Given the description of an element on the screen output the (x, y) to click on. 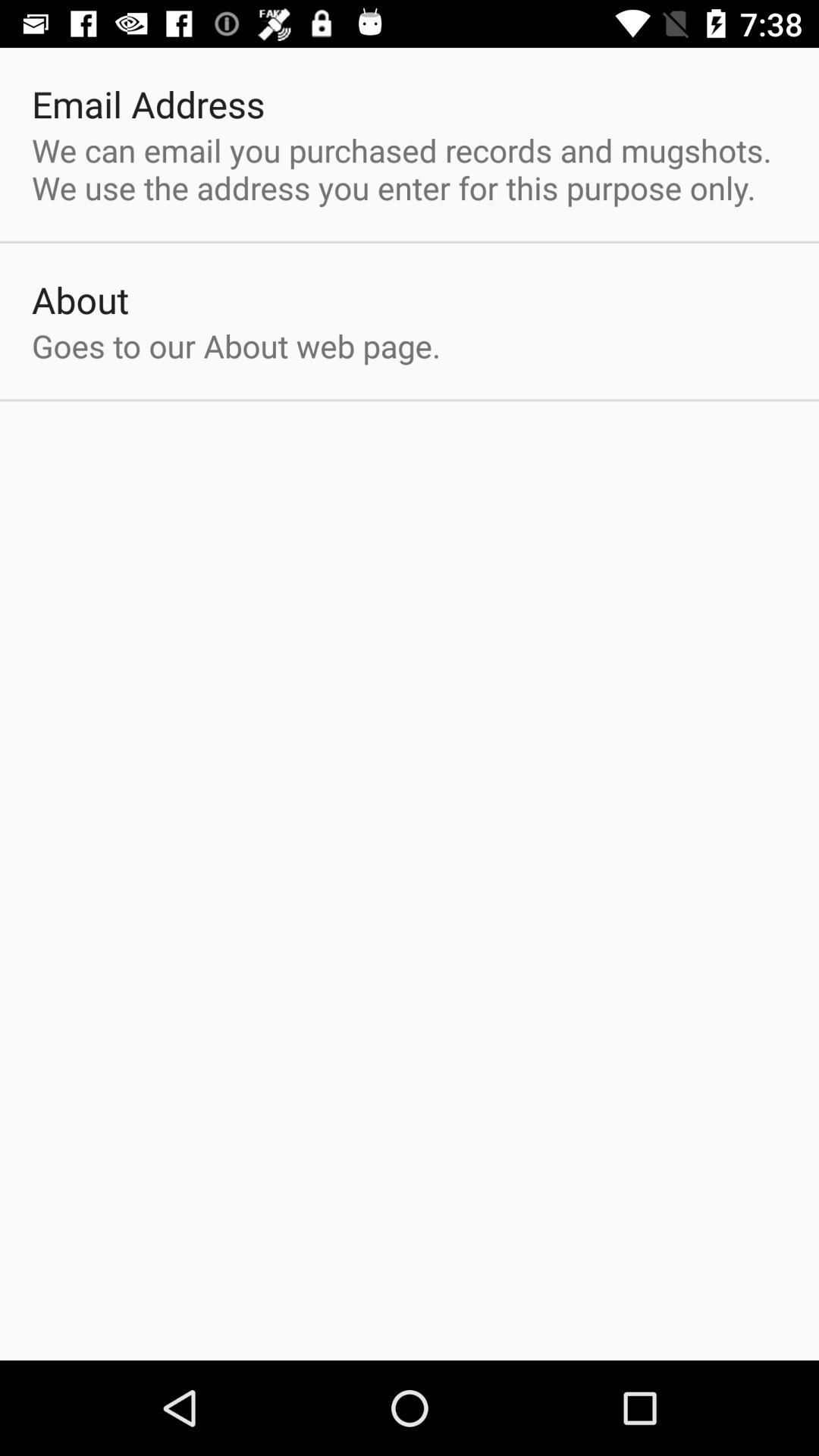
select app below about icon (235, 345)
